Given the description of an element on the screen output the (x, y) to click on. 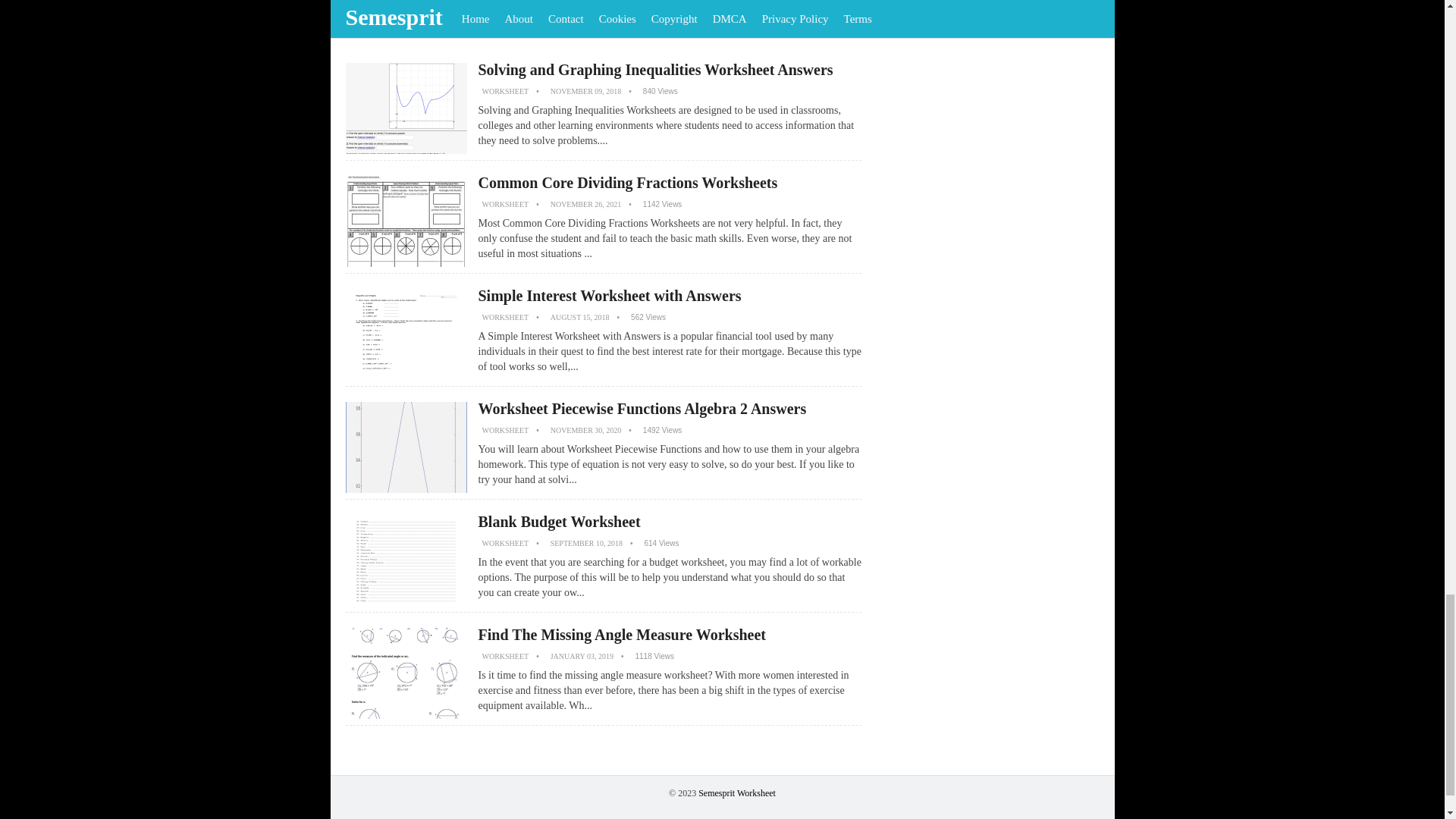
WORKSHEET (505, 203)
Solving and Graphing Inequalities Worksheet Answers (654, 69)
WORKSHEET (505, 655)
Blank Budget Worksheet (558, 521)
WORKSHEET (505, 316)
WORKSHEET (505, 542)
Common Core Dividing Fractions Worksheets (627, 182)
WORKSHEET (505, 429)
